Given the description of an element on the screen output the (x, y) to click on. 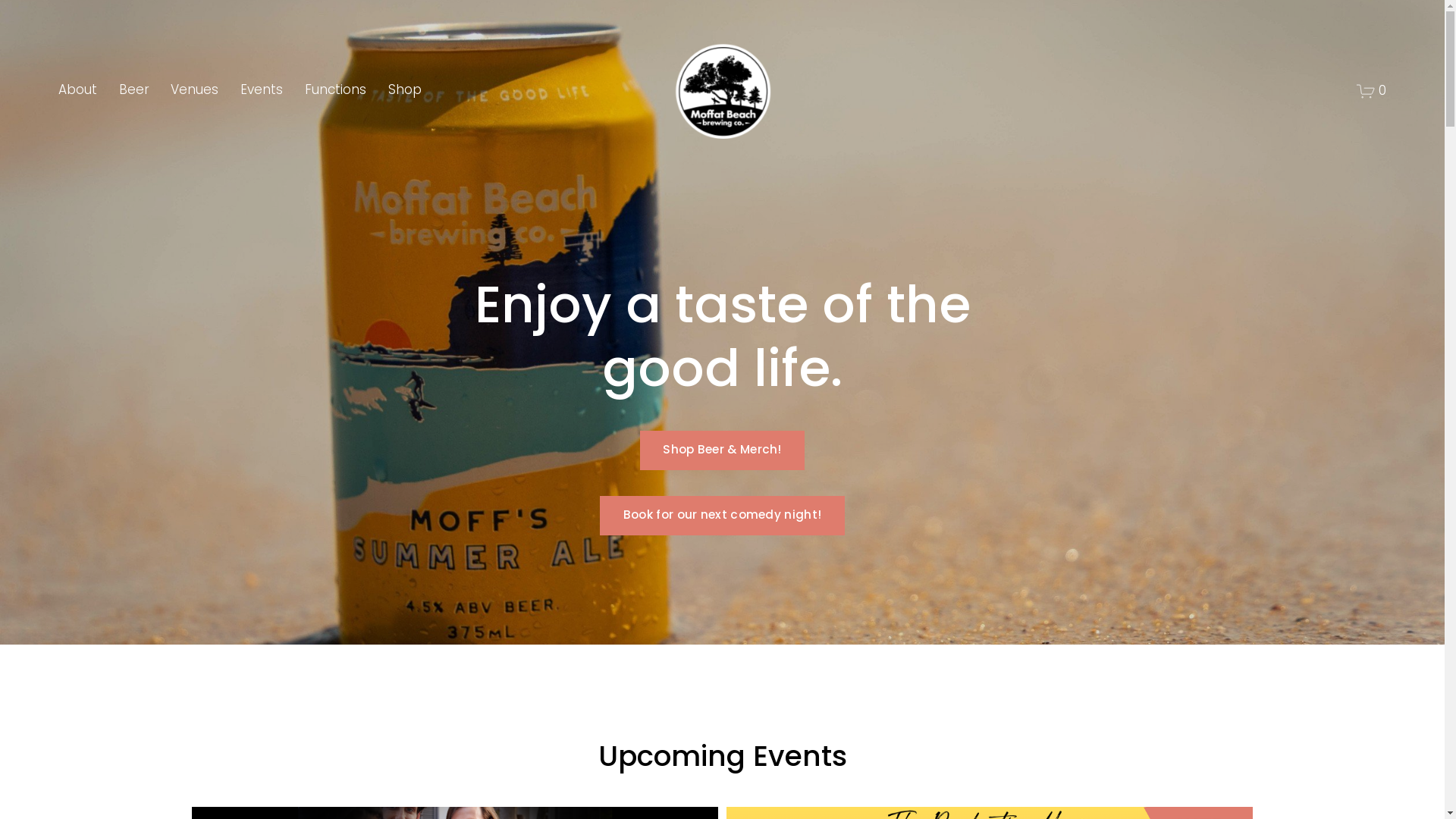
Venues Element type: text (194, 90)
Shop Beer & Merch! Element type: text (722, 450)
Beer Element type: text (134, 90)
Events Element type: text (261, 90)
Shop Element type: text (404, 90)
Functions Element type: text (335, 90)
Book for our next comedy night! Element type: text (721, 515)
0 Element type: text (1371, 90)
About Element type: text (77, 90)
